Given the description of an element on the screen output the (x, y) to click on. 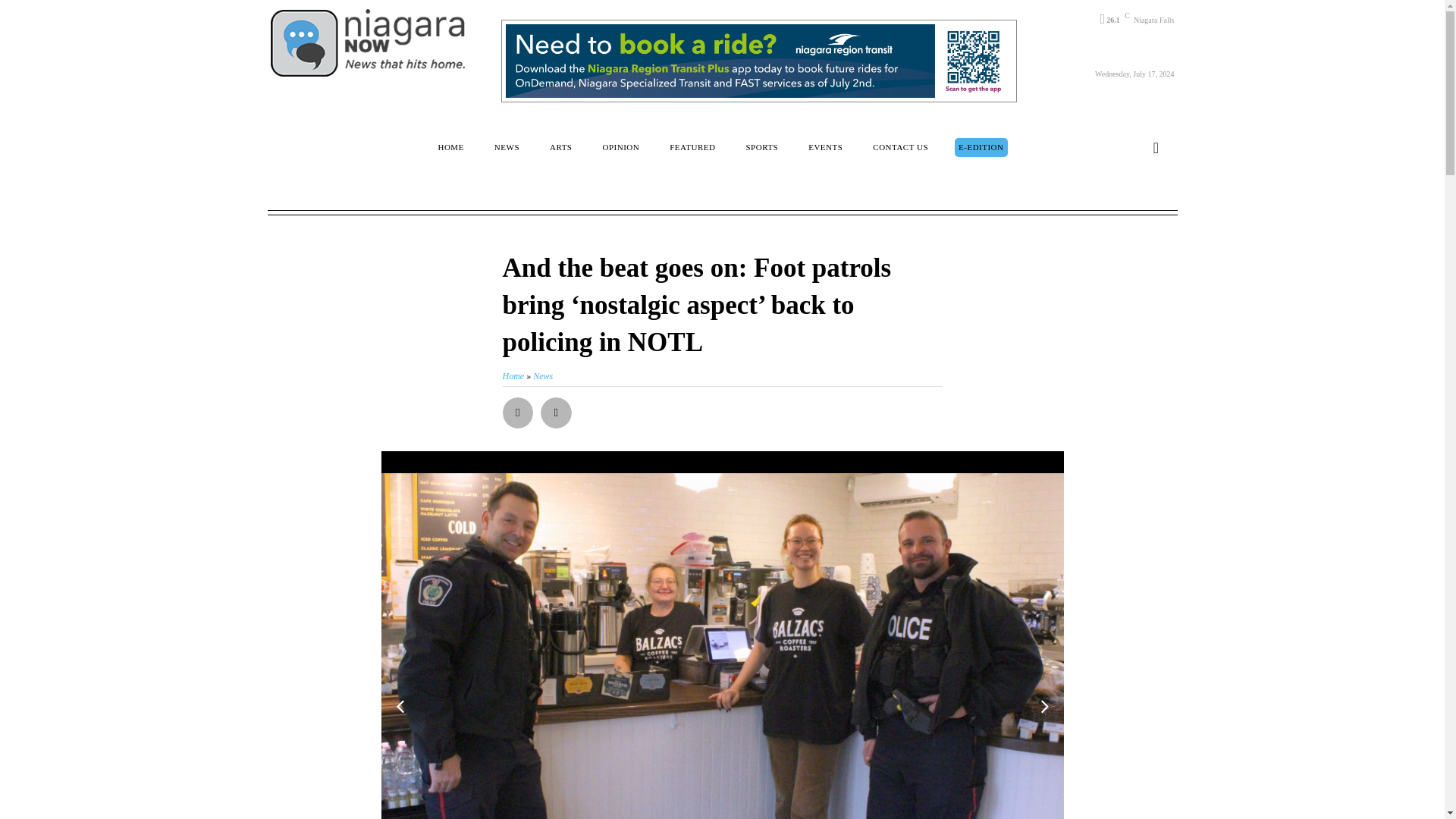
HOME (450, 147)
EVENTS (825, 147)
FEATURED (692, 147)
CONTACT US (900, 147)
E-EDITION (981, 147)
ARTS (560, 147)
SPORTS (761, 147)
NEWS (506, 147)
OPINION (620, 147)
